Given the description of an element on the screen output the (x, y) to click on. 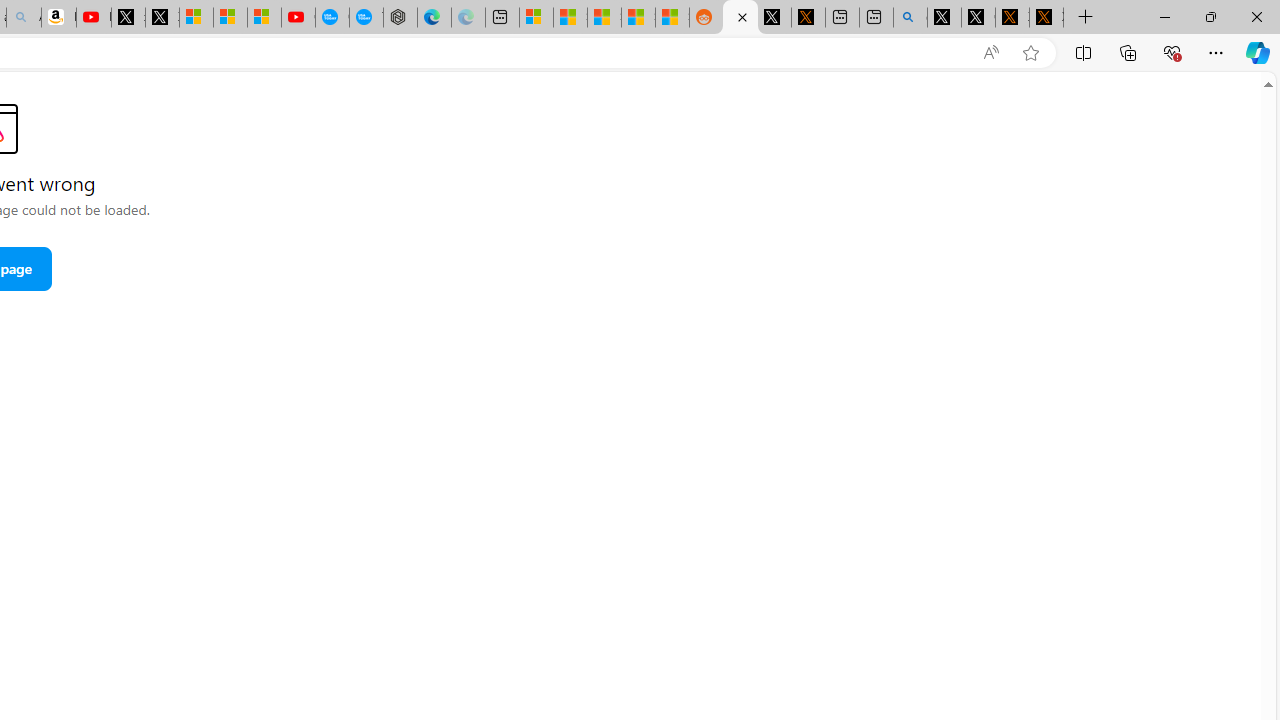
Log in to X / X (774, 17)
Gloom - YouTube (297, 17)
